Given the description of an element on the screen output the (x, y) to click on. 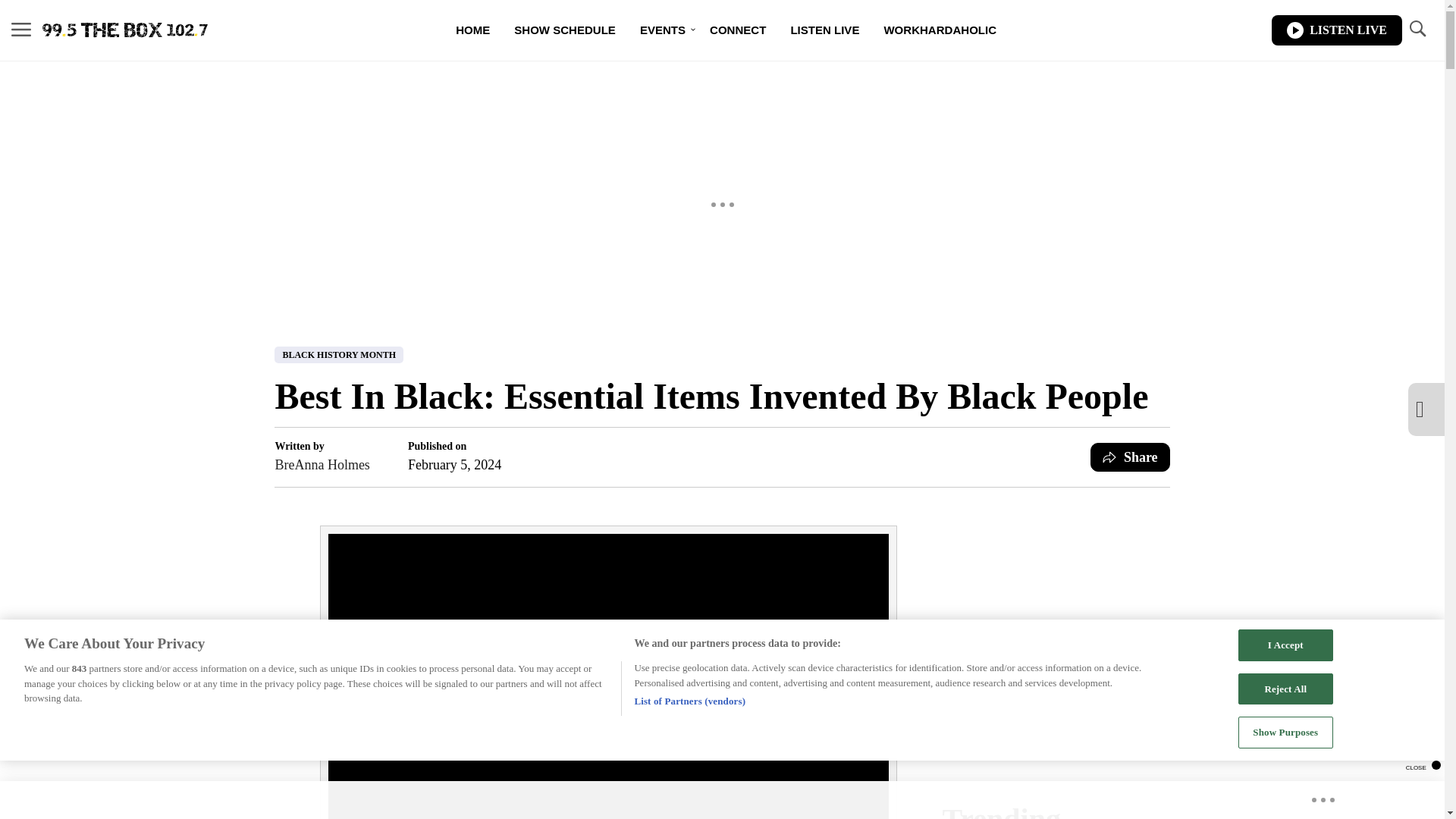
Share (1130, 457)
LISTEN LIVE (823, 30)
TOGGLE SEARCH (1417, 28)
WORKHARDAHOLIC (939, 30)
EVENTS (662, 30)
BreAnna Holmes (322, 464)
BLACK HISTORY MONTH (339, 354)
TOGGLE SEARCH (1417, 30)
CONNECT (737, 30)
MENU (20, 30)
LISTEN LIVE (1336, 30)
SHOW SCHEDULE (564, 30)
MENU (20, 29)
HOME (473, 30)
